Given the description of an element on the screen output the (x, y) to click on. 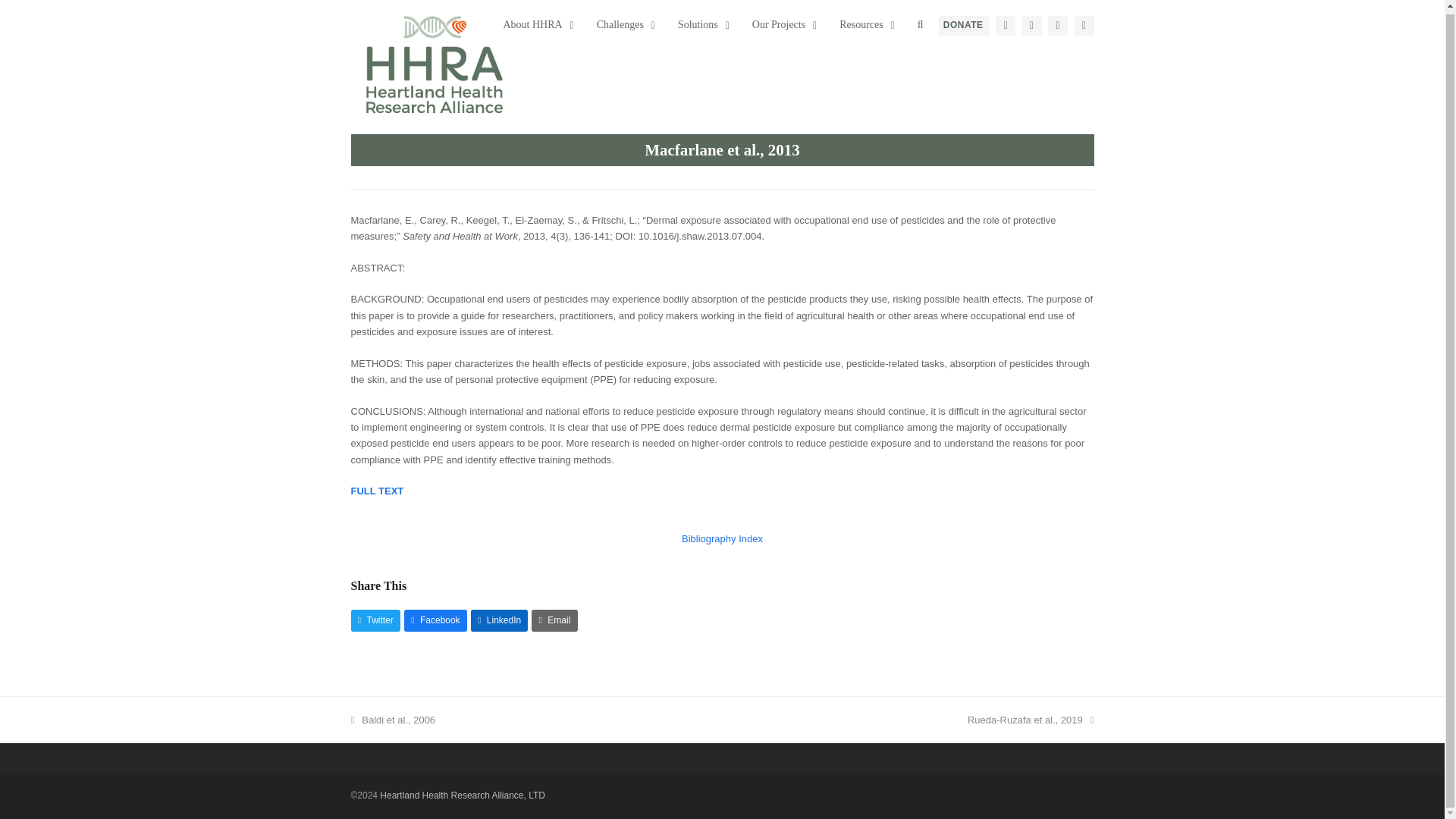
Donate (712, 24)
Our Projects (963, 25)
Youtube (780, 24)
Facebook (1084, 25)
Challenges (1004, 25)
About HHRA (621, 24)
Twitter (533, 24)
Solutions (1032, 25)
Instagram (699, 24)
